Given the description of an element on the screen output the (x, y) to click on. 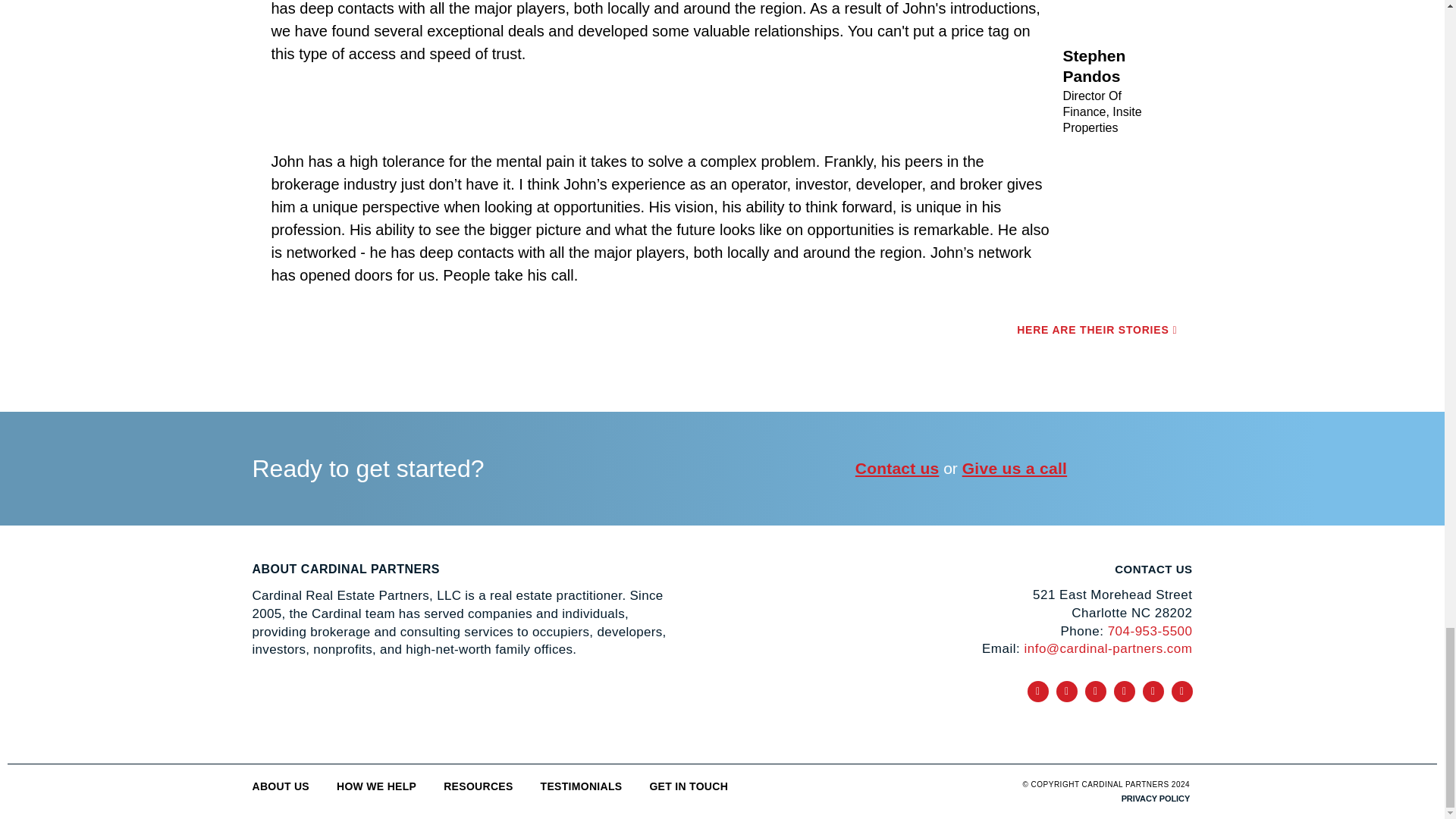
HERE ARE THEIR STORIES (1096, 329)
Default Title (511, 711)
Default Title (406, 711)
Contact us (897, 467)
Default Title (300, 711)
704-953-5500 (1150, 631)
Give us a call (1014, 467)
ABOUT US (279, 786)
